Given the description of an element on the screen output the (x, y) to click on. 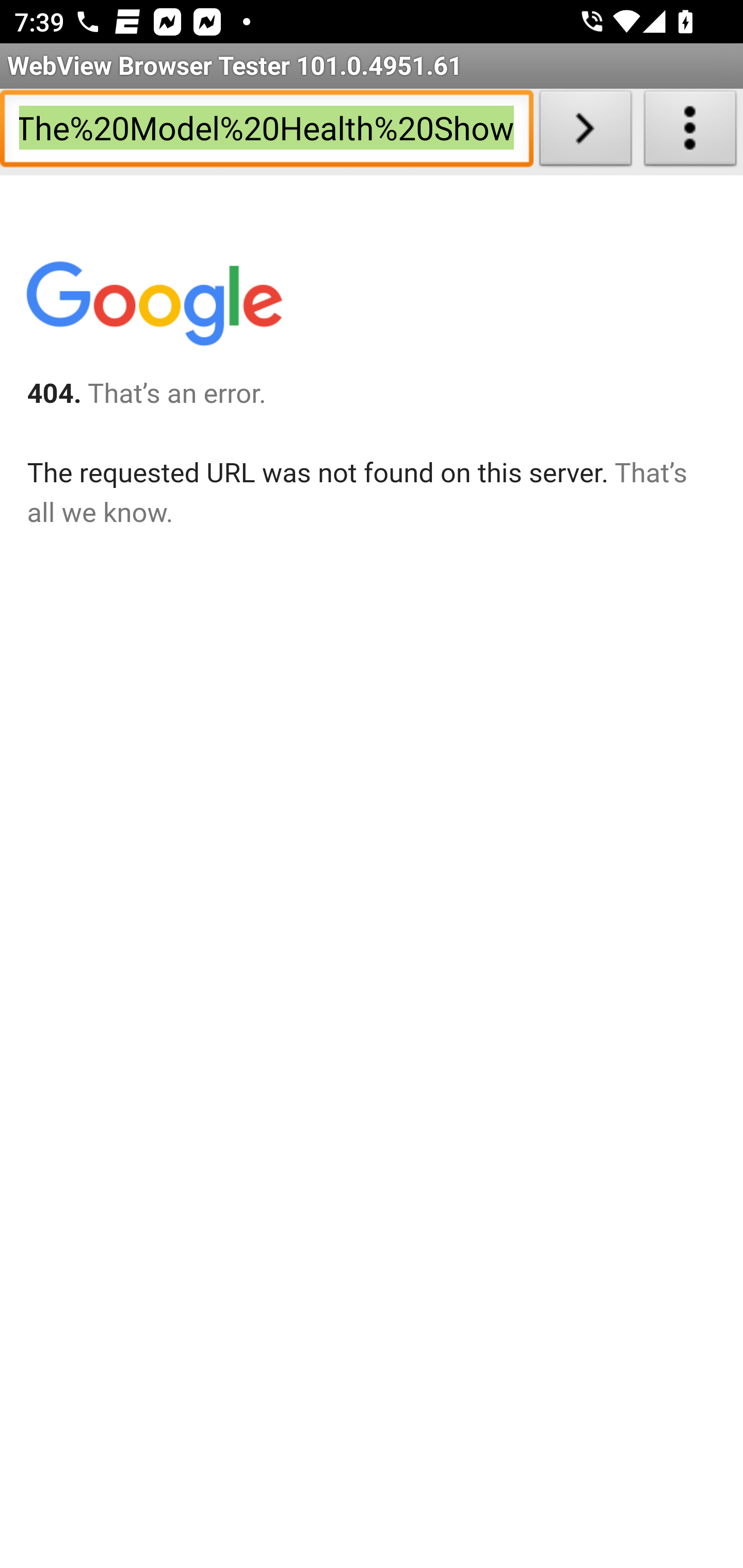
Load URL (585, 132)
About WebView (690, 132)
Google (153, 307)
